Given the description of an element on the screen output the (x, y) to click on. 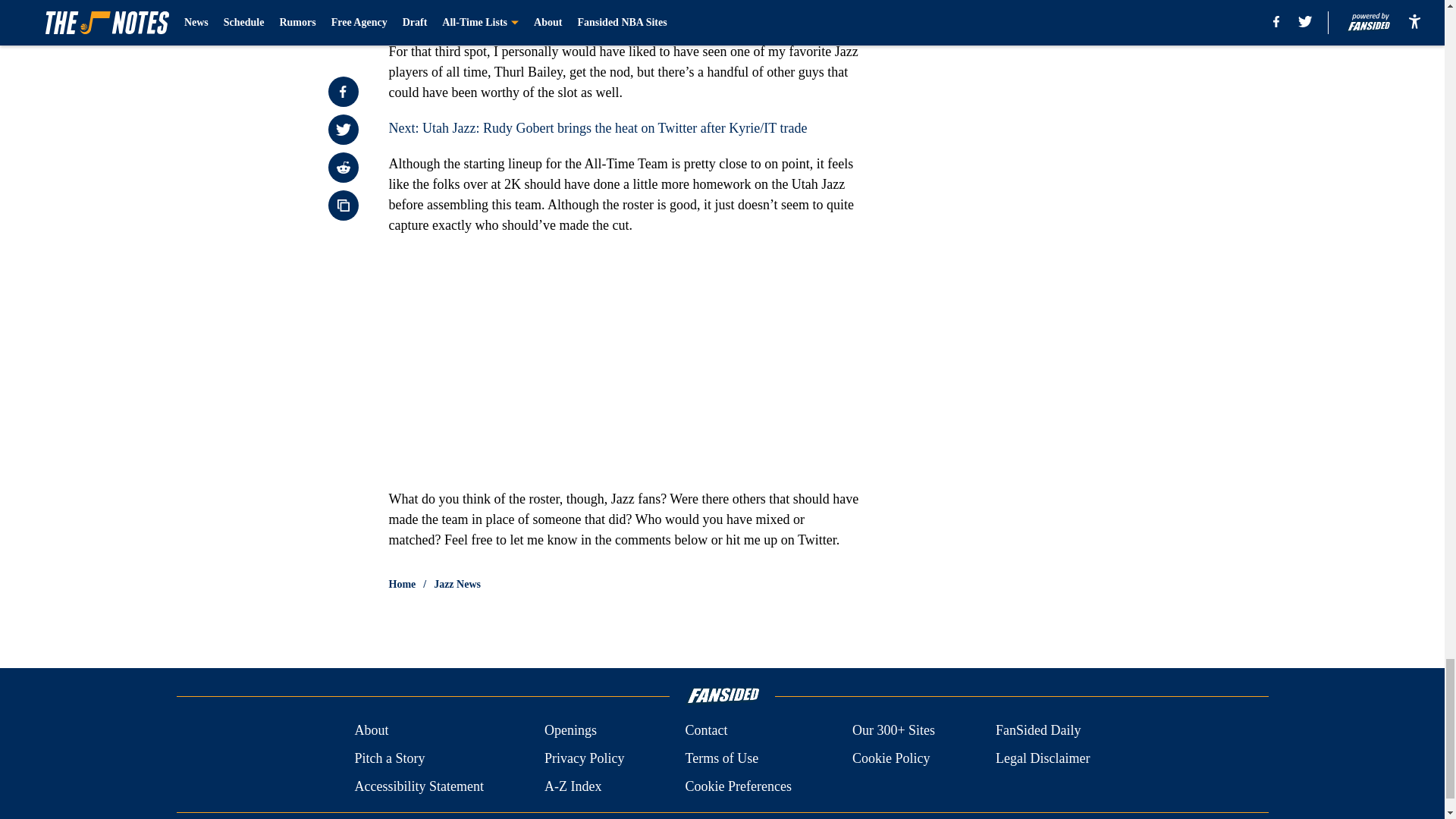
Openings (570, 730)
Contact (705, 730)
Jazz News (456, 584)
Home (401, 584)
About (370, 730)
